Given the description of an element on the screen output the (x, y) to click on. 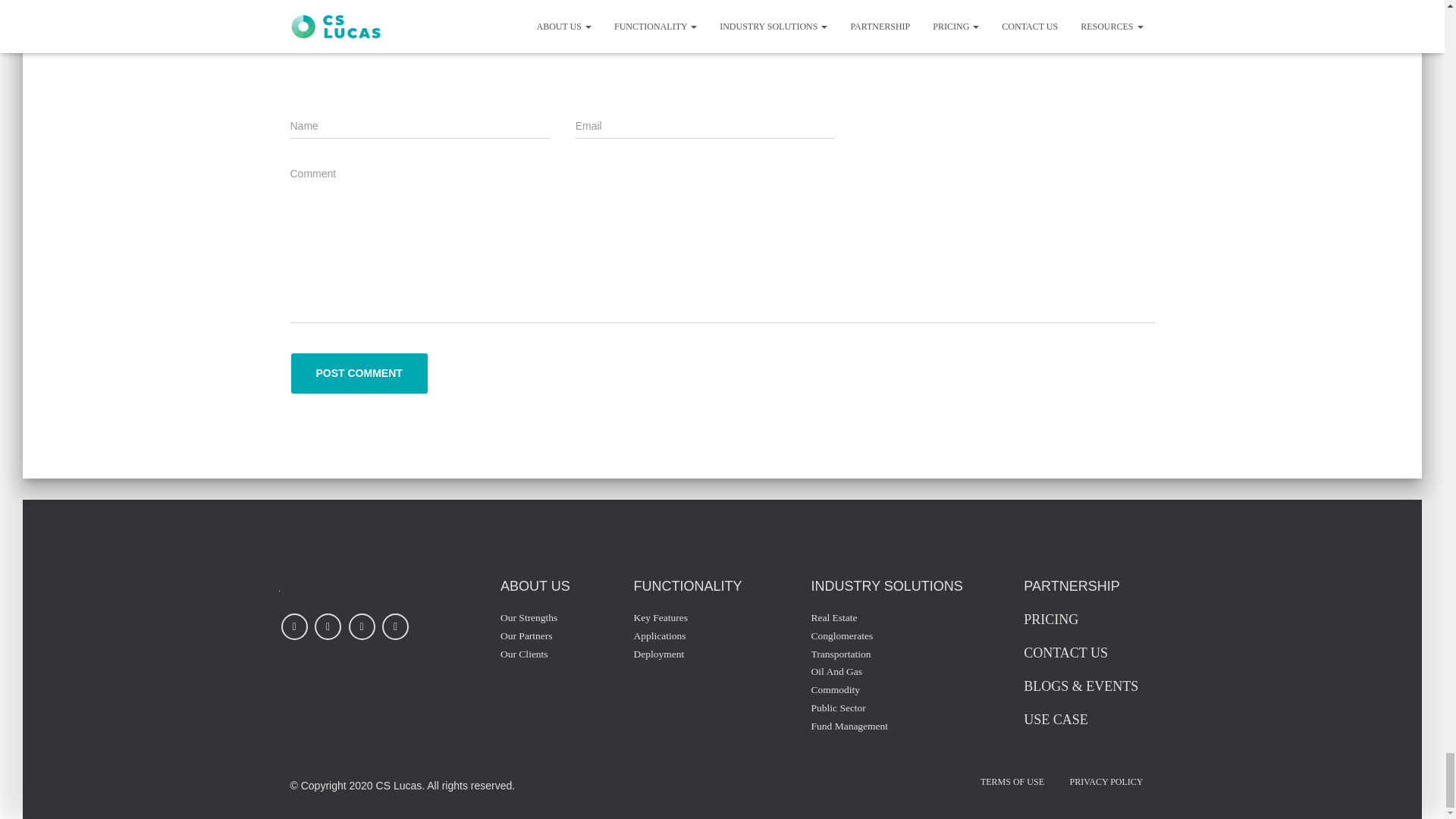
Post Comment (359, 372)
